Given the description of an element on the screen output the (x, y) to click on. 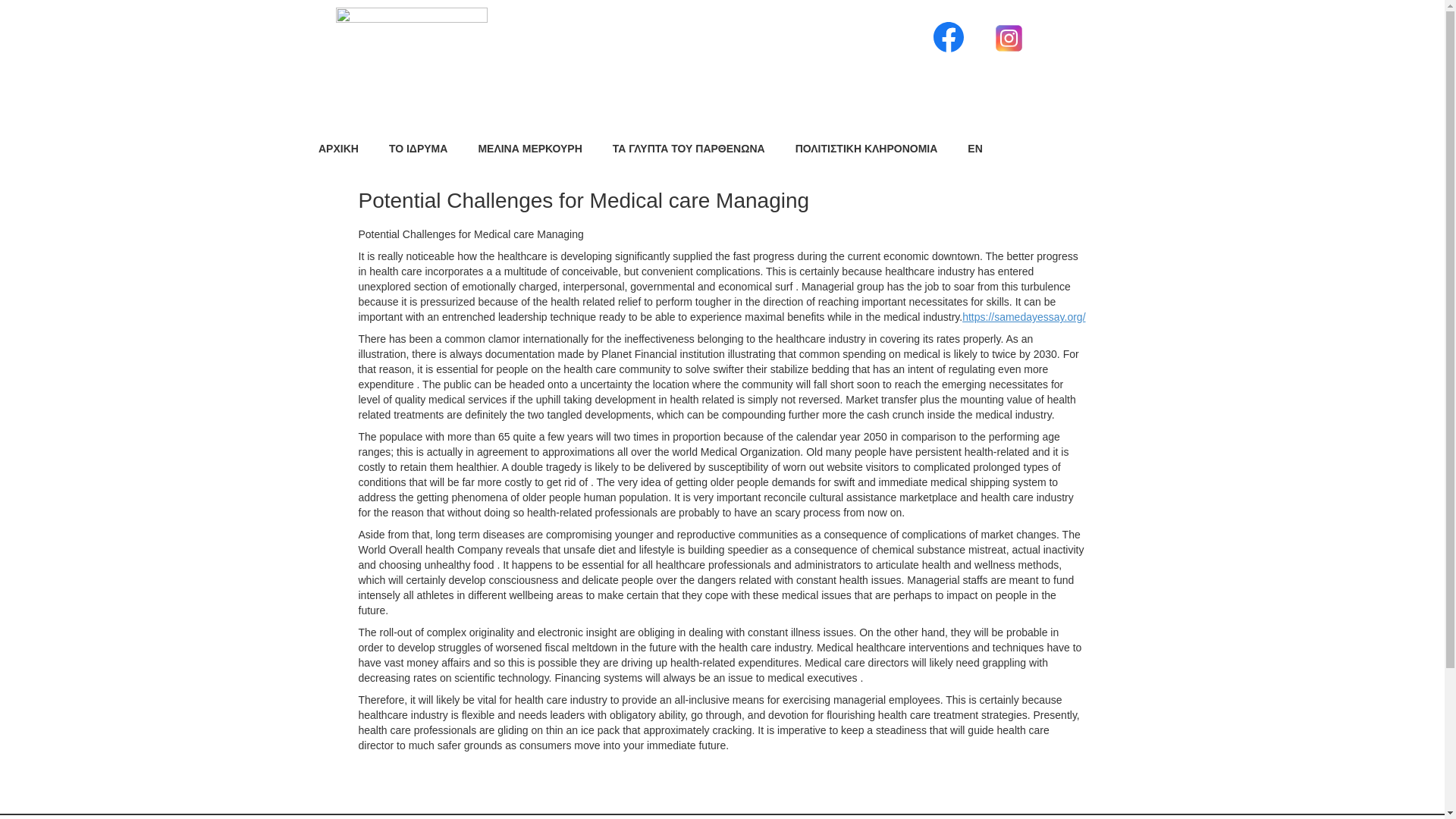
EN (974, 148)
